Given the description of an element on the screen output the (x, y) to click on. 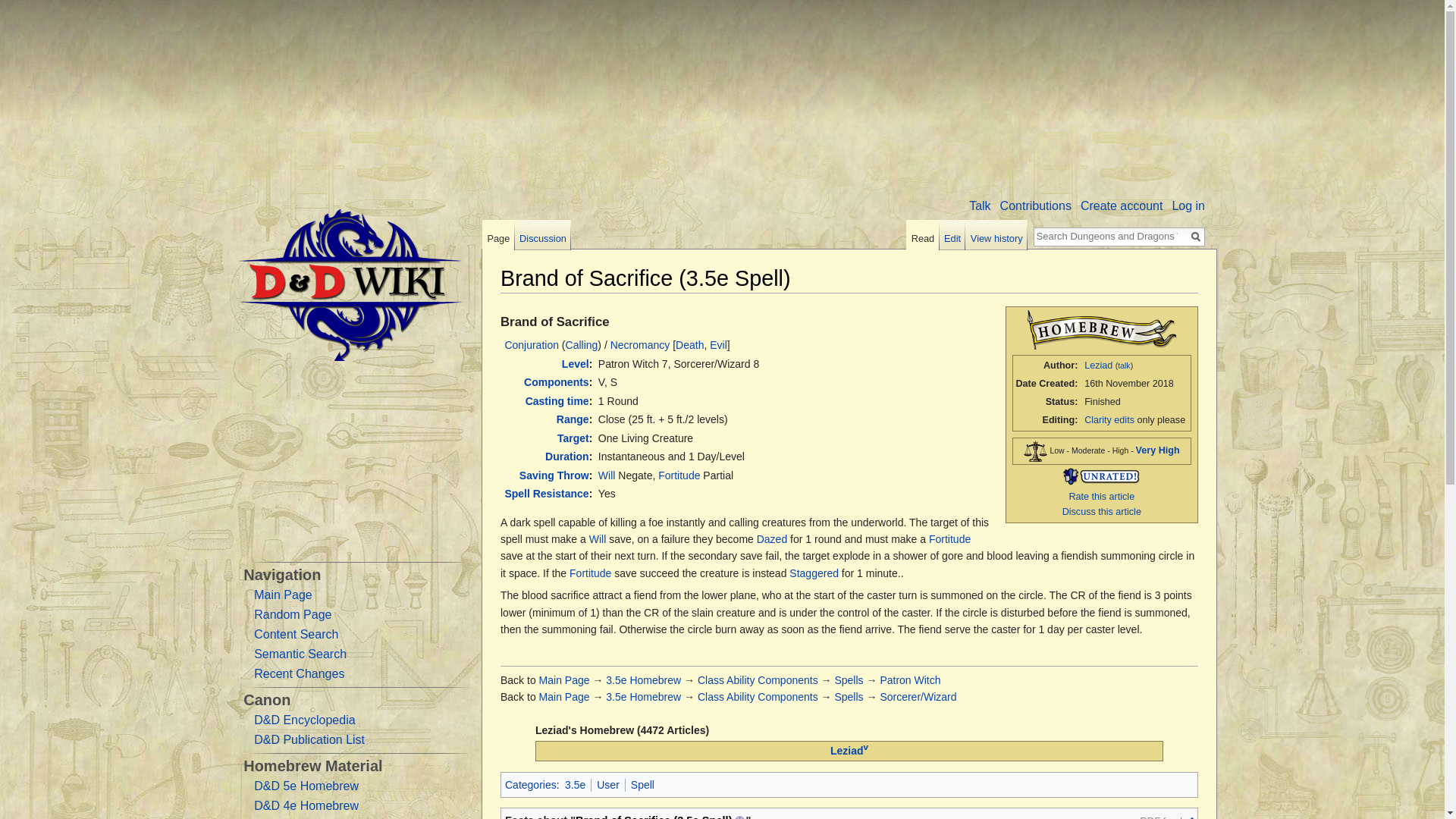
Range (572, 419)
Death (689, 345)
Fortitude (949, 539)
Main Page (563, 680)
Class Ability Components (757, 680)
Patron Witch (909, 680)
SRD:Evil Effect (718, 345)
Will (606, 475)
Necromancy (639, 345)
3.5e Homebrew (643, 680)
Components (556, 381)
Saving Throw (554, 475)
Staggered (813, 573)
3.5e Homebrew (643, 696)
Fortitude (679, 475)
